Given the description of an element on the screen output the (x, y) to click on. 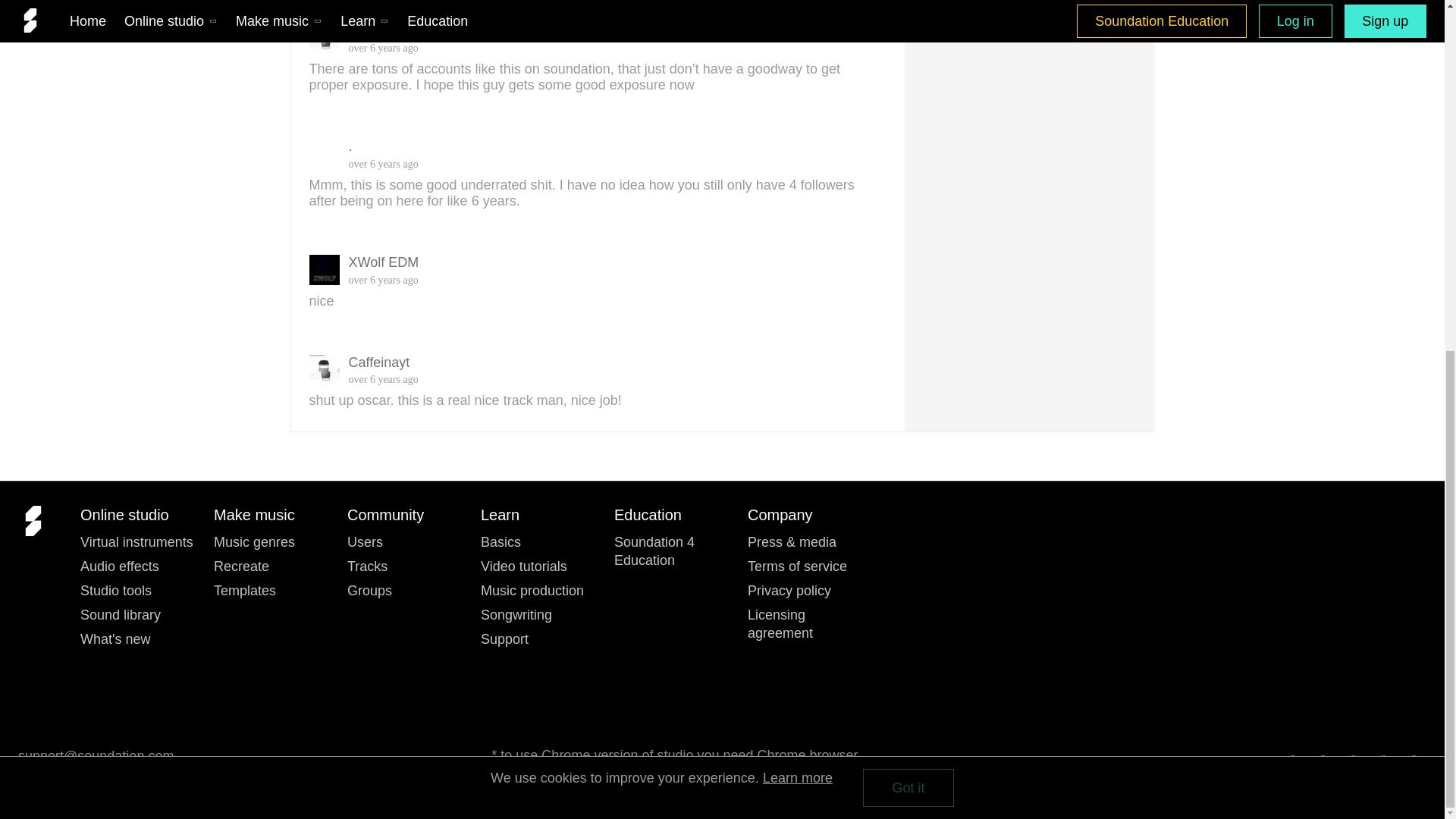
XWolf EDM  (937, 5)
